Given the description of an element on the screen output the (x, y) to click on. 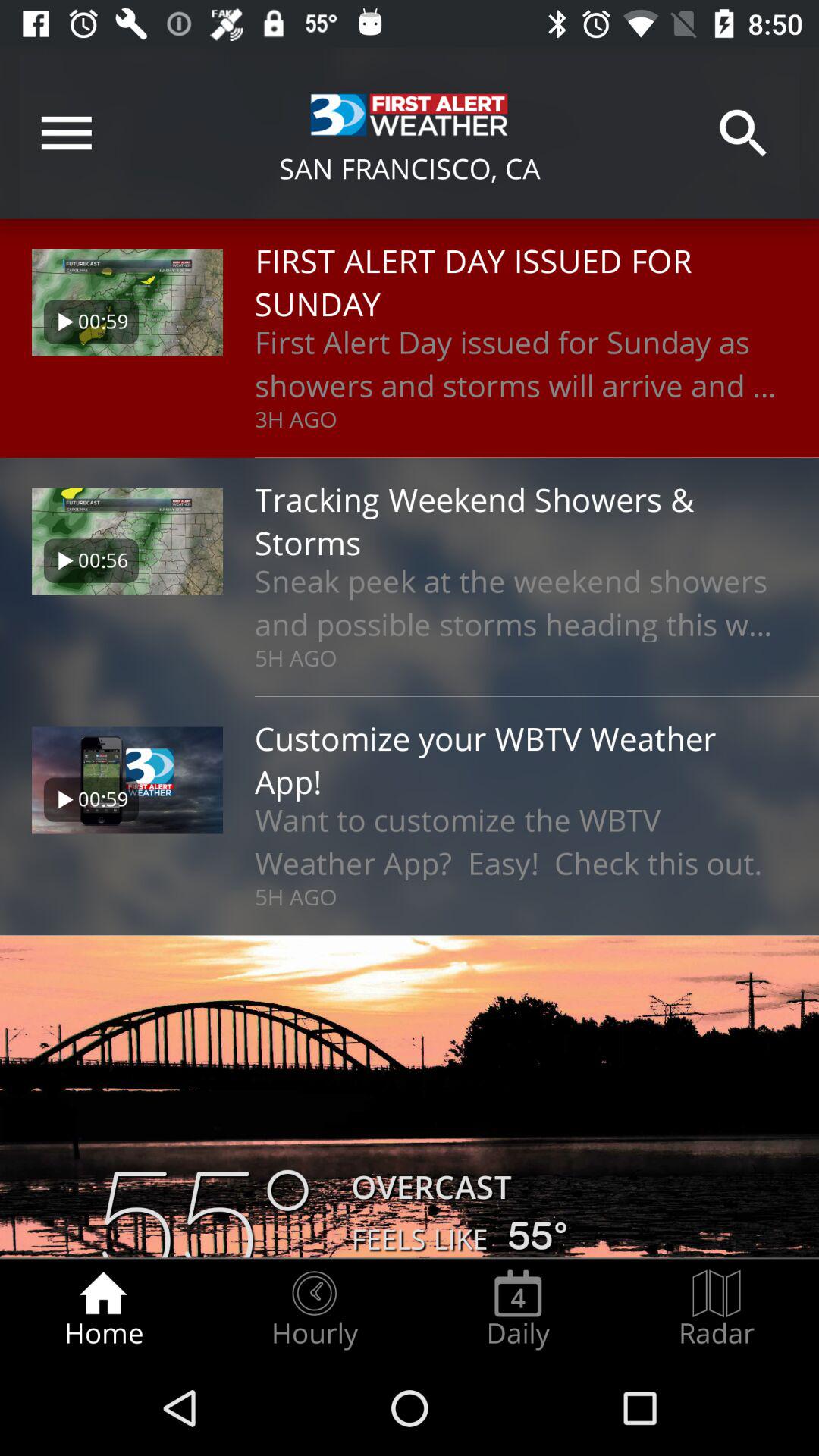
click the icon next to daily (314, 1309)
